Given the description of an element on the screen output the (x, y) to click on. 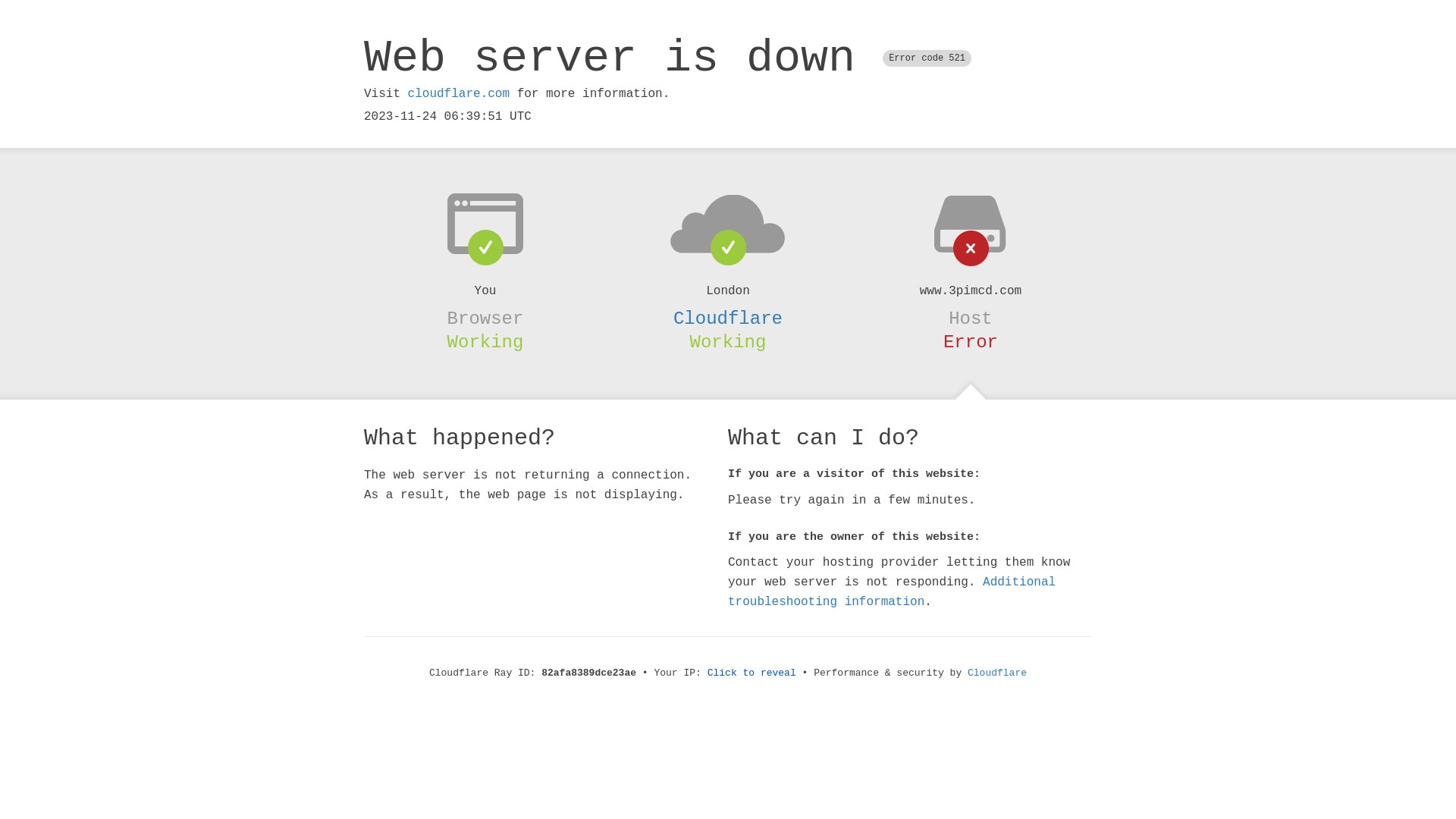
Cloudflare Element type: text (996, 672)
Click to reveal Element type: text (751, 672)
cloudflare.com Element type: text (458, 93)
Additional troubleshooting information Element type: text (891, 591)
Cloudflare Element type: text (727, 318)
